Given the description of an element on the screen output the (x, y) to click on. 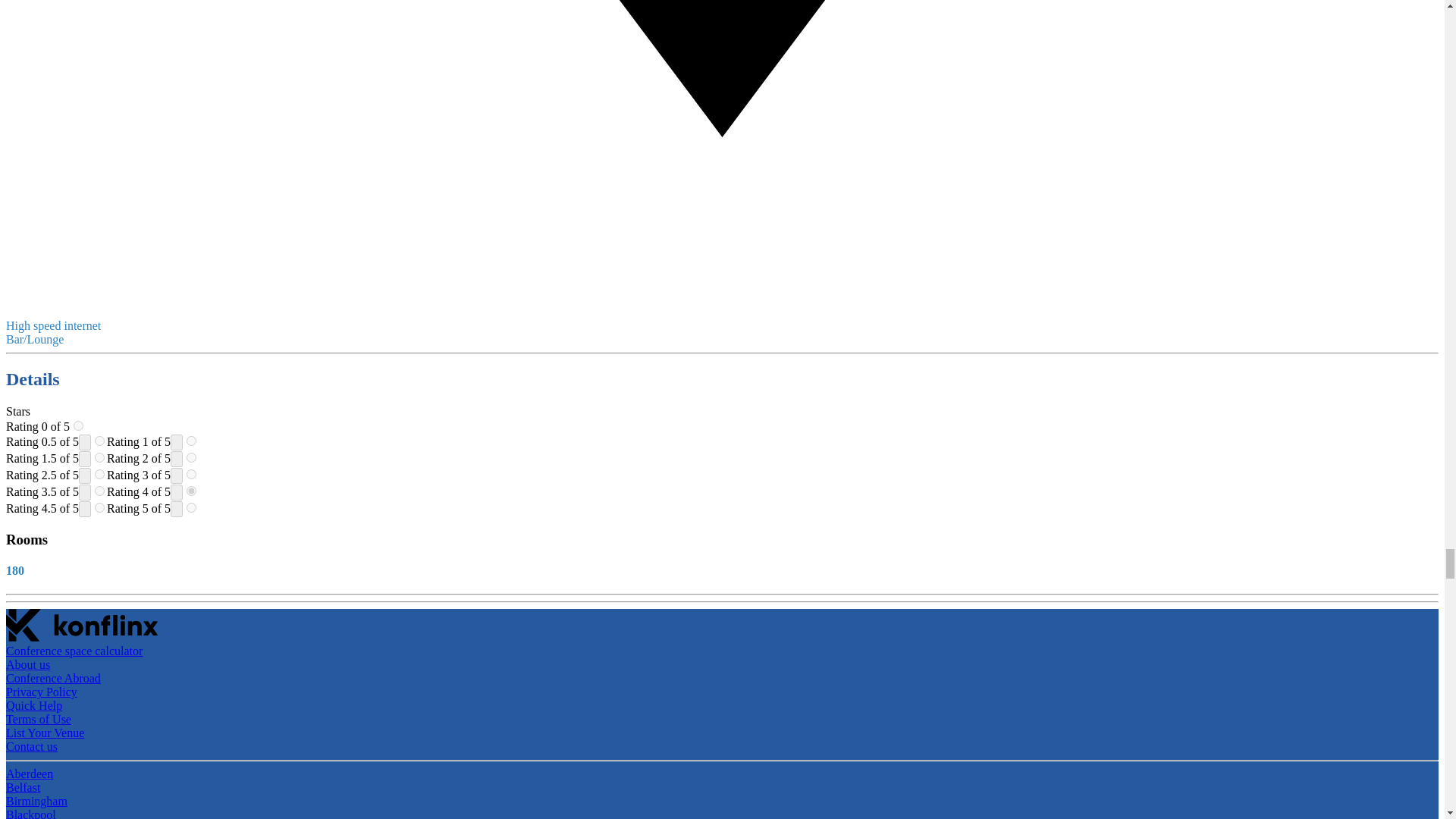
Blackpool (30, 813)
About us (27, 664)
List Your Venue (44, 732)
5 (191, 507)
Terms of Use (38, 718)
3.5 (99, 491)
4.5 (99, 507)
Contact us (31, 746)
0.5 (99, 440)
About us (27, 664)
